Given the description of an element on the screen output the (x, y) to click on. 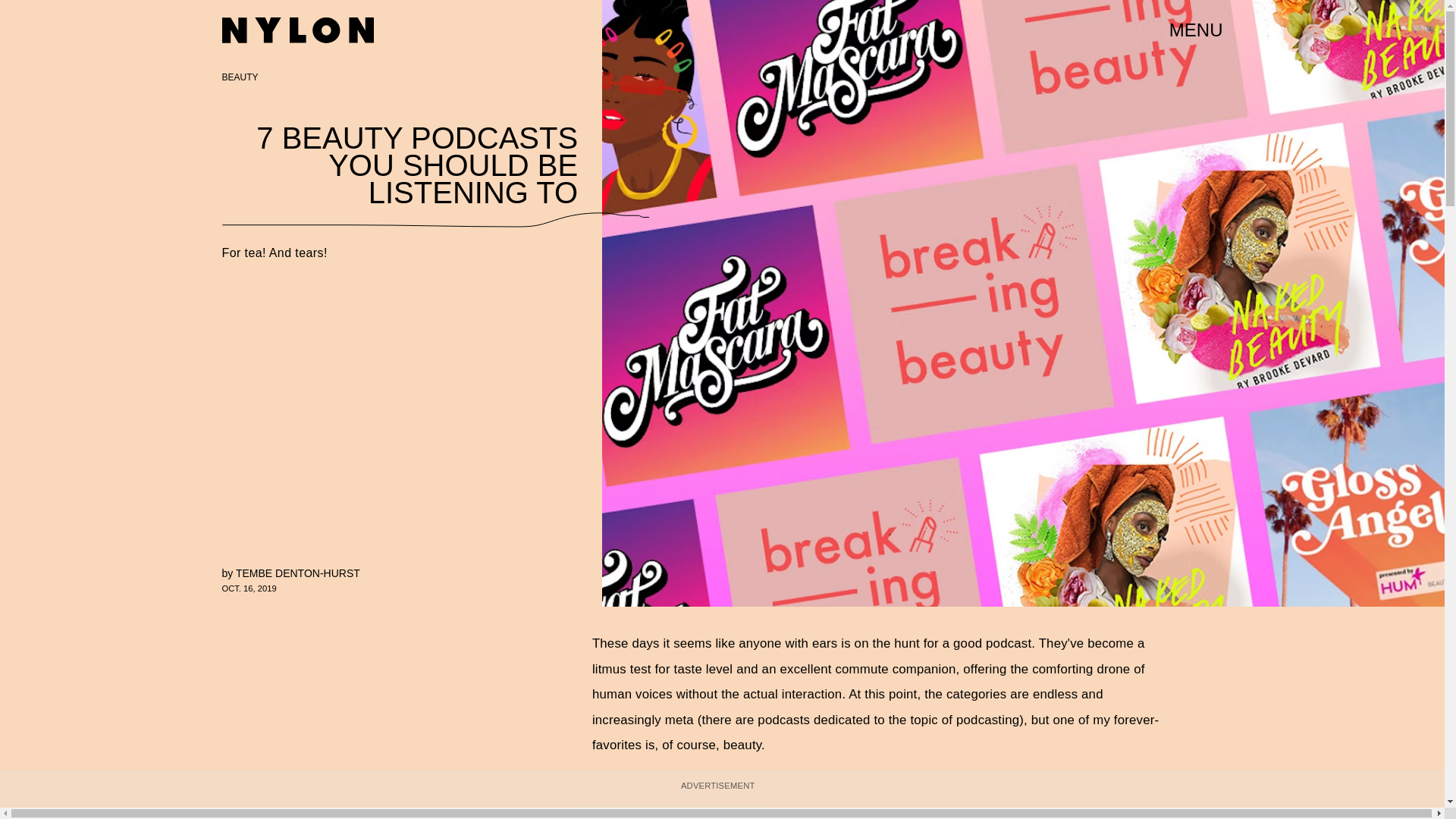
Nylon (296, 30)
